Given the description of an element on the screen output the (x, y) to click on. 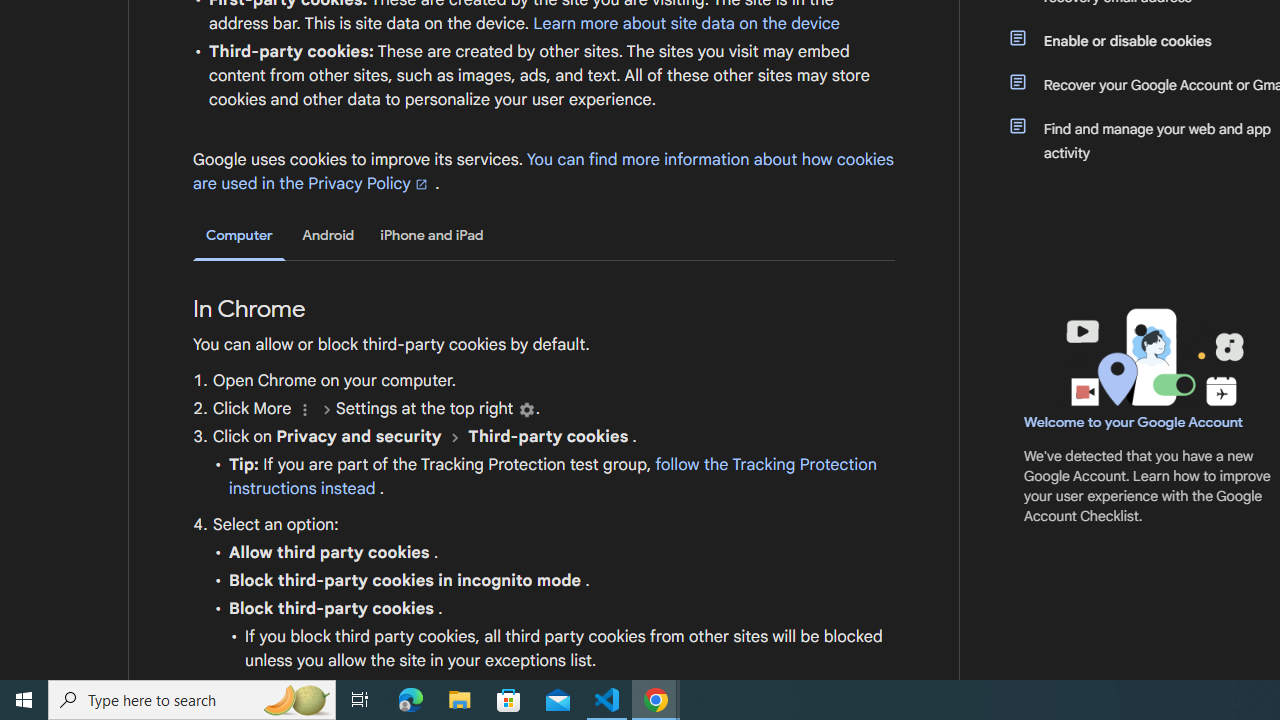
follow the Tracking Protection instructions instead (552, 476)
Learning Center home page image (1152, 357)
More (303, 409)
Welcome to your Google Account (1134, 422)
Android (328, 235)
Learn more about site data on the device (686, 23)
iPhone and iPad (431, 235)
Computer (239, 235)
Institutions (526, 409)
and then (454, 437)
